Given the description of an element on the screen output the (x, y) to click on. 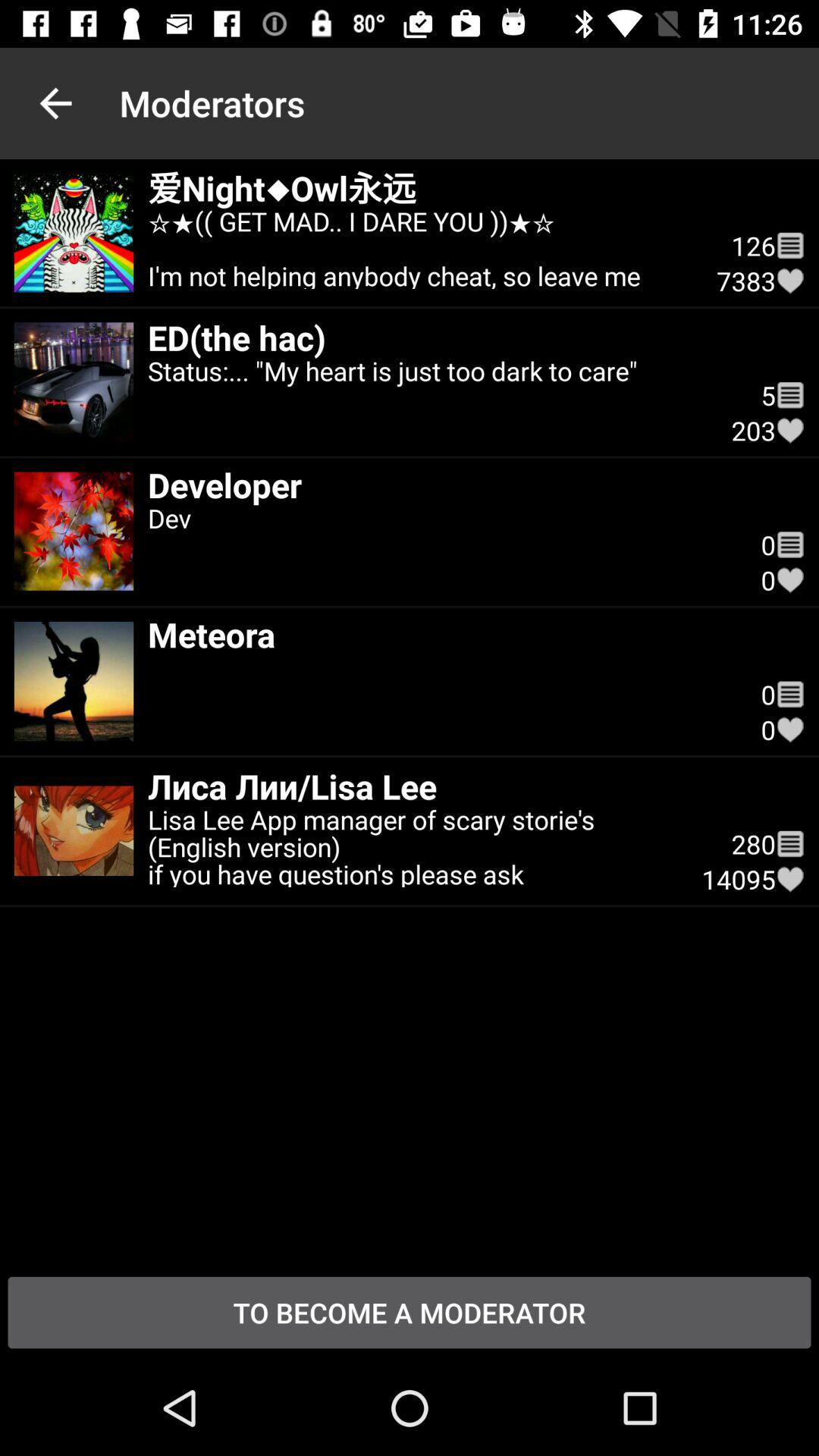
turn on item below the 203 (439, 545)
